Given the description of an element on the screen output the (x, y) to click on. 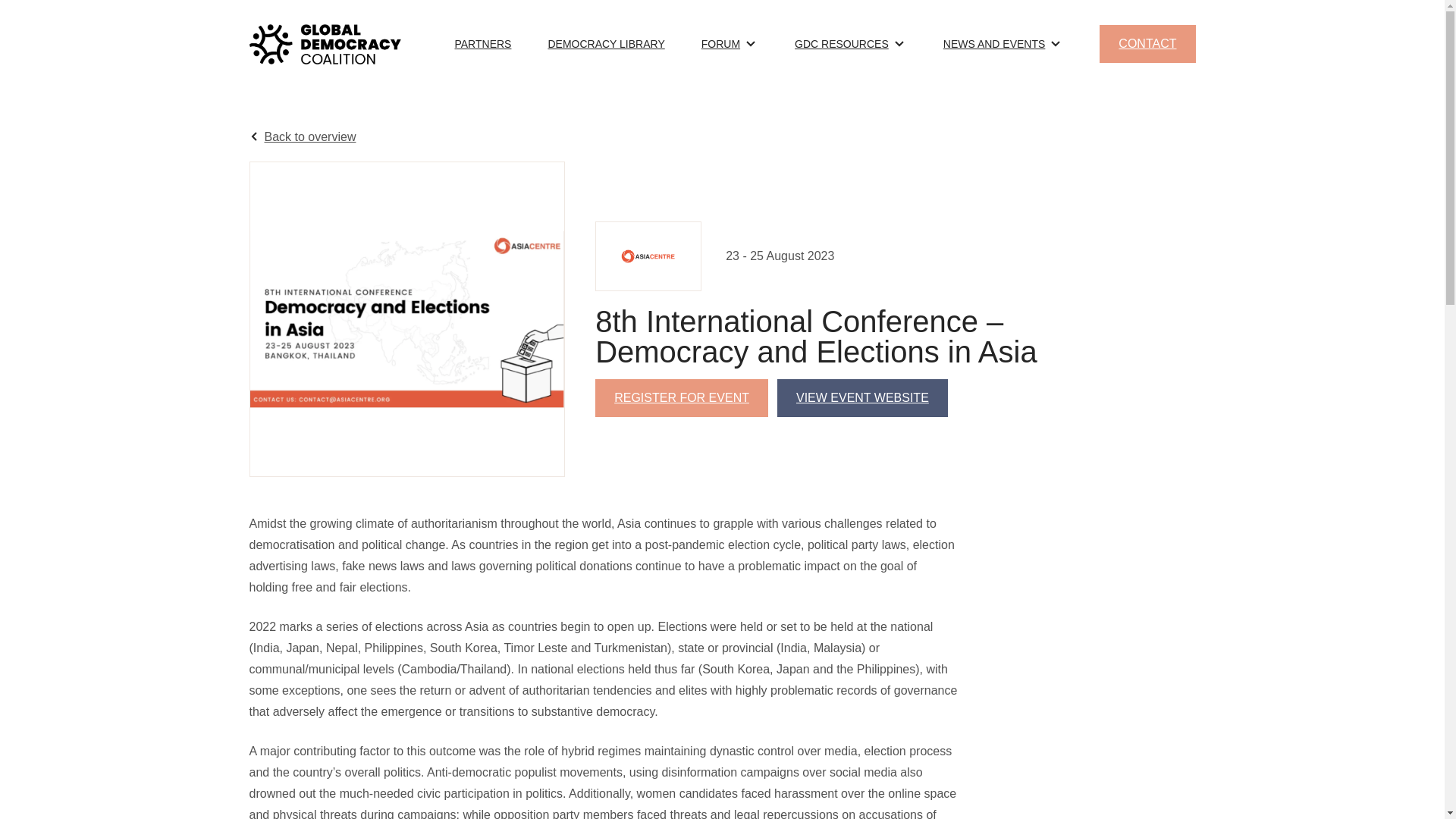
NEWS AND EVENTS (994, 43)
PARTNERS (482, 43)
REGISTER FOR EVENT (681, 397)
CONTACT (1147, 44)
VIEW EVENT WEBSITE (862, 397)
GDC RESOURCES (841, 43)
FORUM (720, 43)
DEMOCRACY LIBRARY (605, 43)
Back to overview (301, 137)
